Given the description of an element on the screen output the (x, y) to click on. 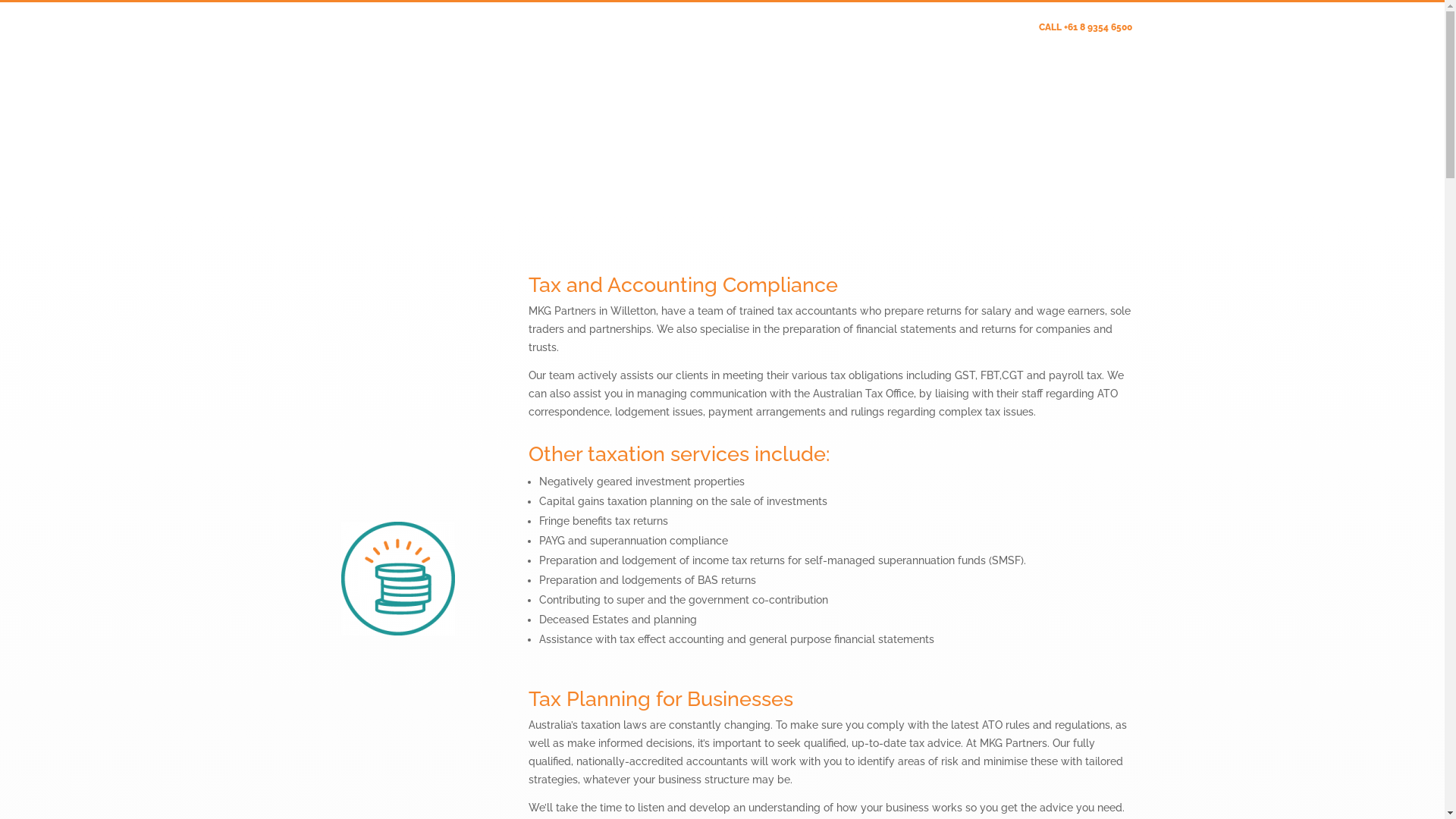
Services Element type: text (648, 74)
Skip to content Element type: text (0, 0)
Client Portal Element type: text (863, 30)
Our Specialties Element type: text (741, 74)
Contact Us Element type: text (1073, 74)
MKG Open Spaces Element type: text (852, 74)
Testimonials Element type: text (995, 74)
Payment Portal Element type: text (767, 30)
CALL +61 8 9354 6500 Element type: text (1085, 30)
About Element type: text (577, 74)
Client Update Form Element type: text (968, 30)
News Element type: text (931, 74)
